Given the description of an element on the screen output the (x, y) to click on. 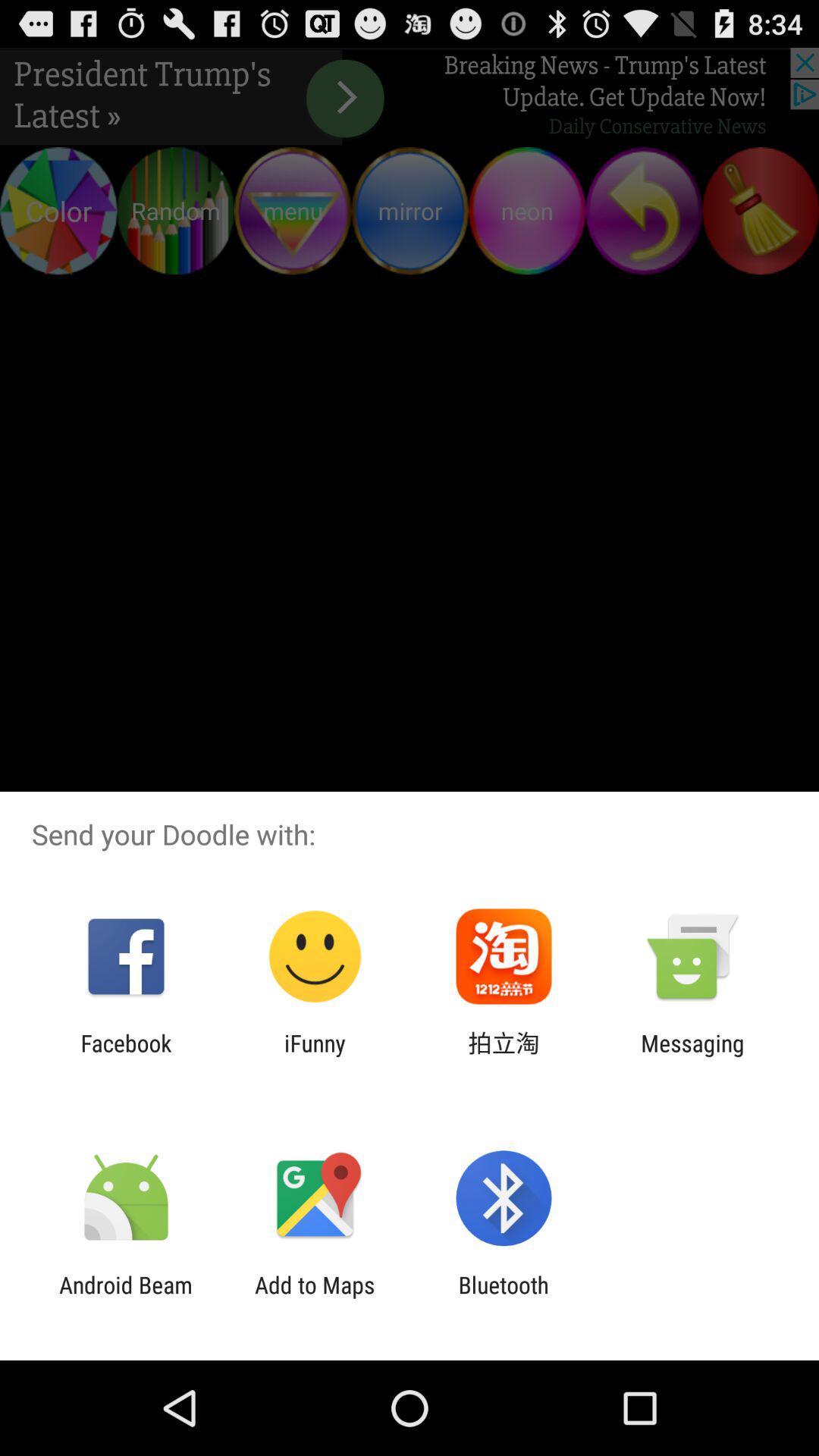
launch ifunny icon (314, 1056)
